Given the description of an element on the screen output the (x, y) to click on. 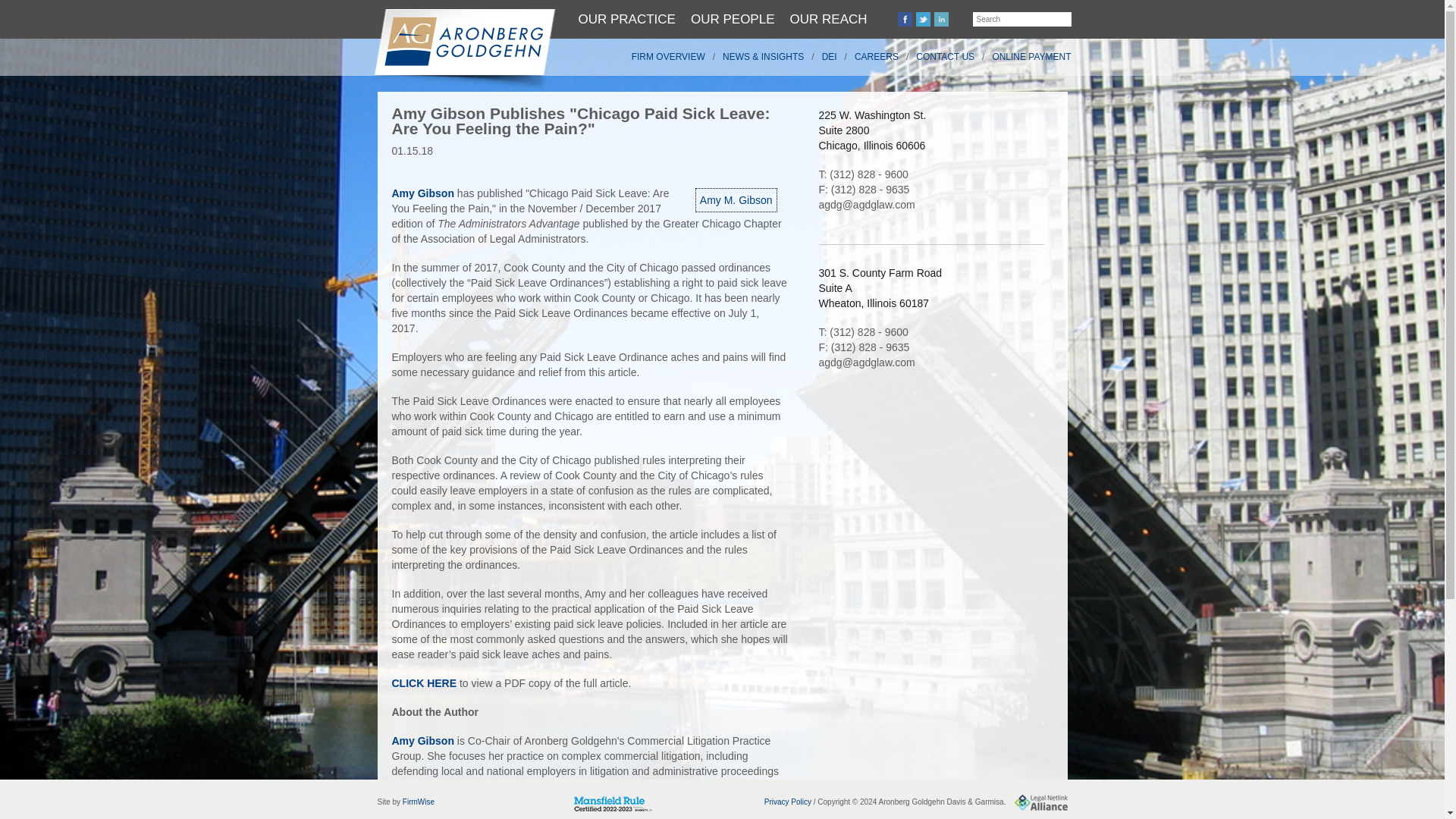
Connect on Linkedin (941, 19)
OUR PEOPLE (732, 19)
Join us on Facebook (905, 19)
Law Firm Website Hosting and Content Management System (418, 801)
Follow us on Twitter (922, 19)
OUR PRACTICE (626, 19)
